Given the description of an element on the screen output the (x, y) to click on. 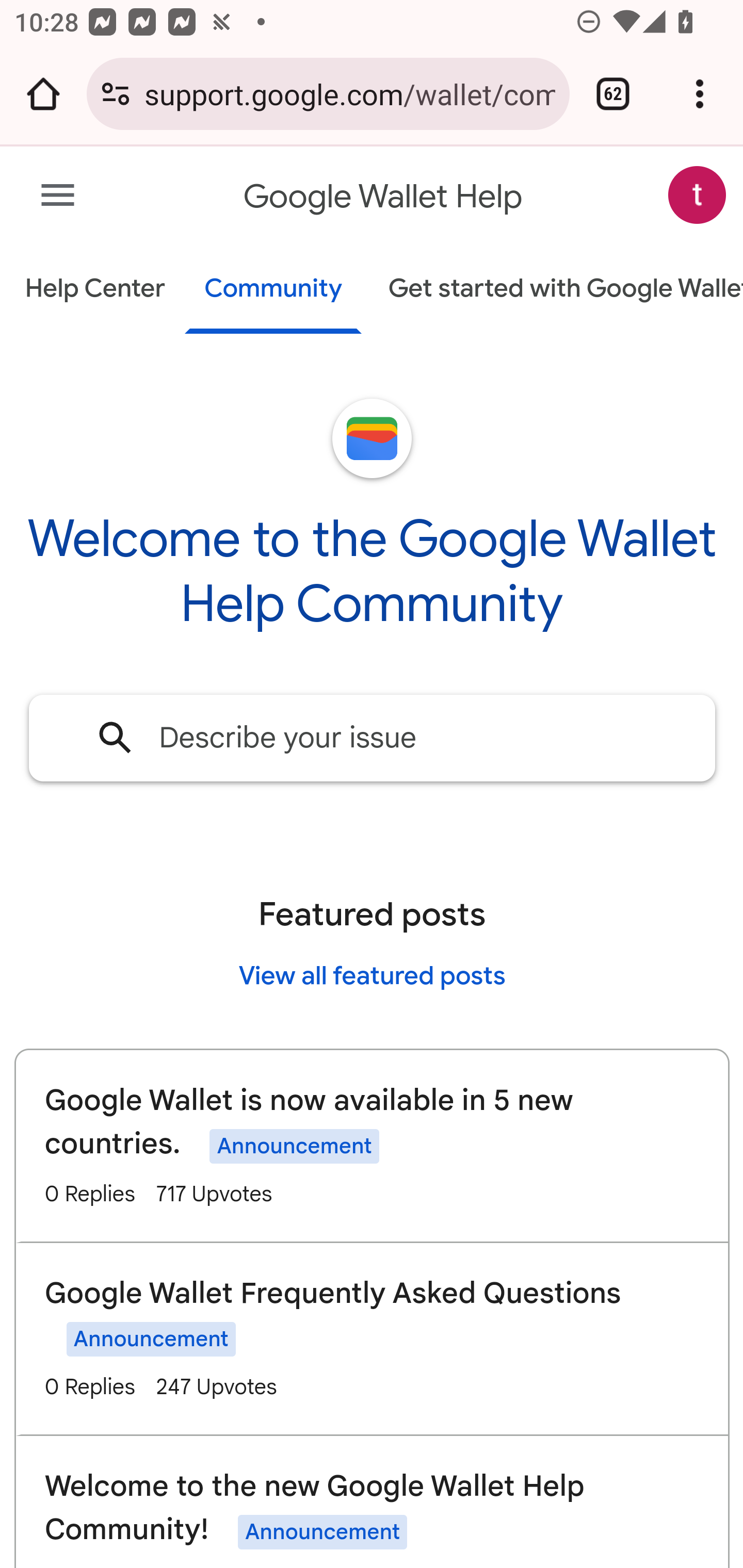
Open the home page (43, 93)
Connection is secure (115, 93)
Switch or close tabs (612, 93)
Customize and control Google Chrome (699, 93)
Main menu (58, 195)
Google Wallet Help (383, 197)
Help Center (94, 289)
Community (273, 289)
Get started with Google Wallet (555, 289)
Search (116, 736)
View all featured posts (371, 975)
